Given the description of an element on the screen output the (x, y) to click on. 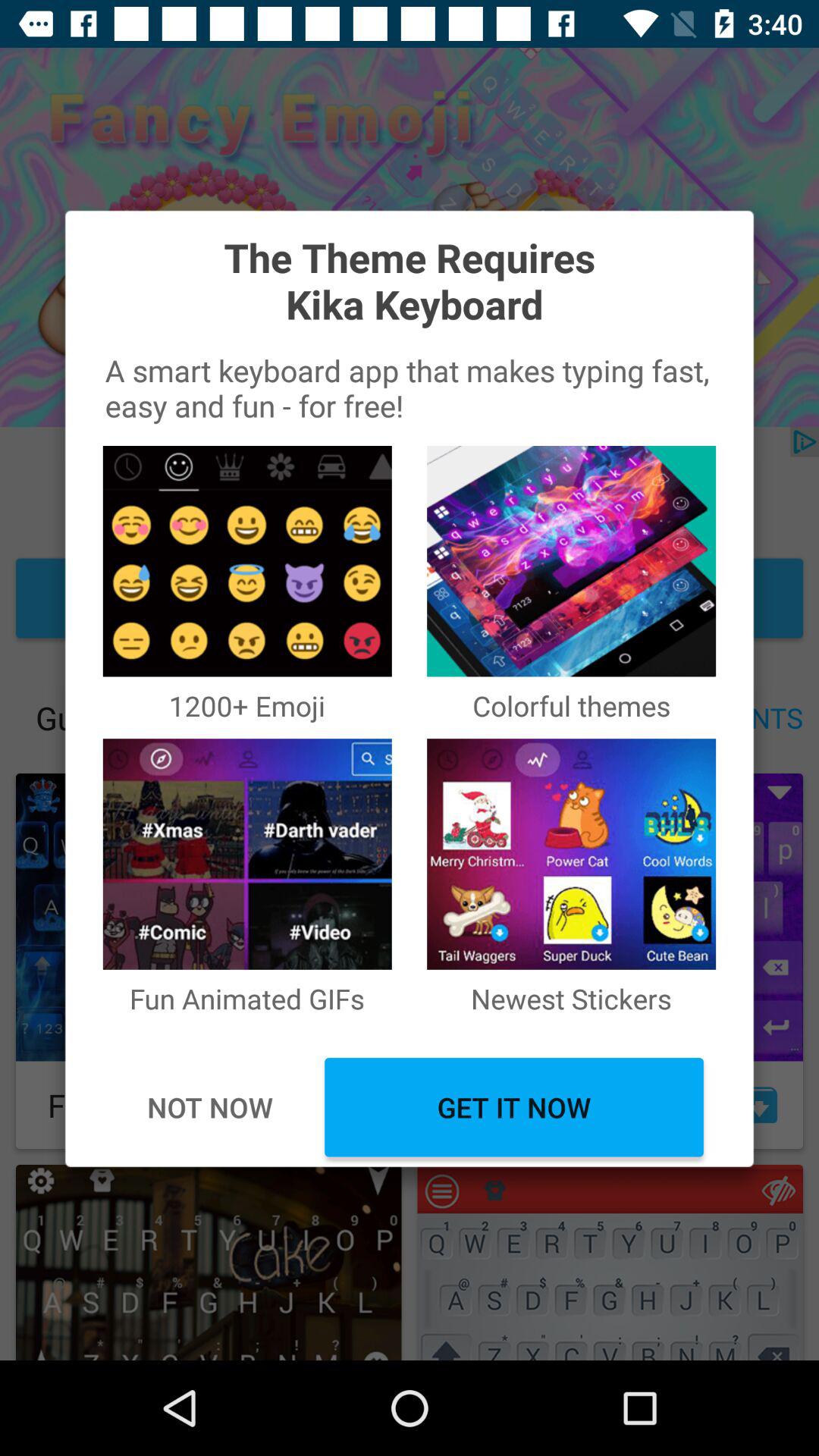
swipe to get it now item (513, 1106)
